Given the description of an element on the screen output the (x, y) to click on. 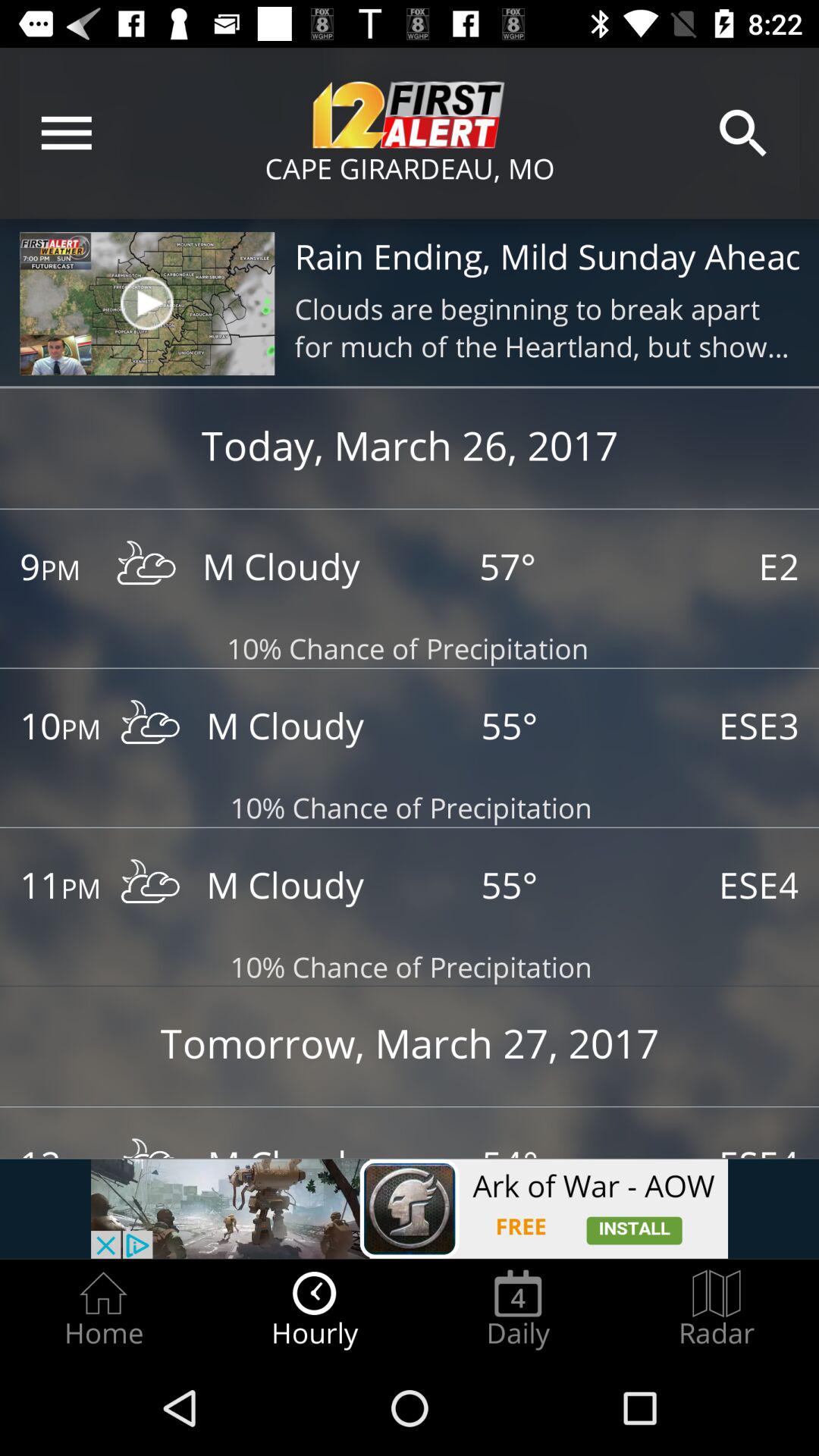
click on icon between home icon and daily icon (314, 1309)
click on play button before rain ending text (146, 303)
